Given the description of an element on the screen output the (x, y) to click on. 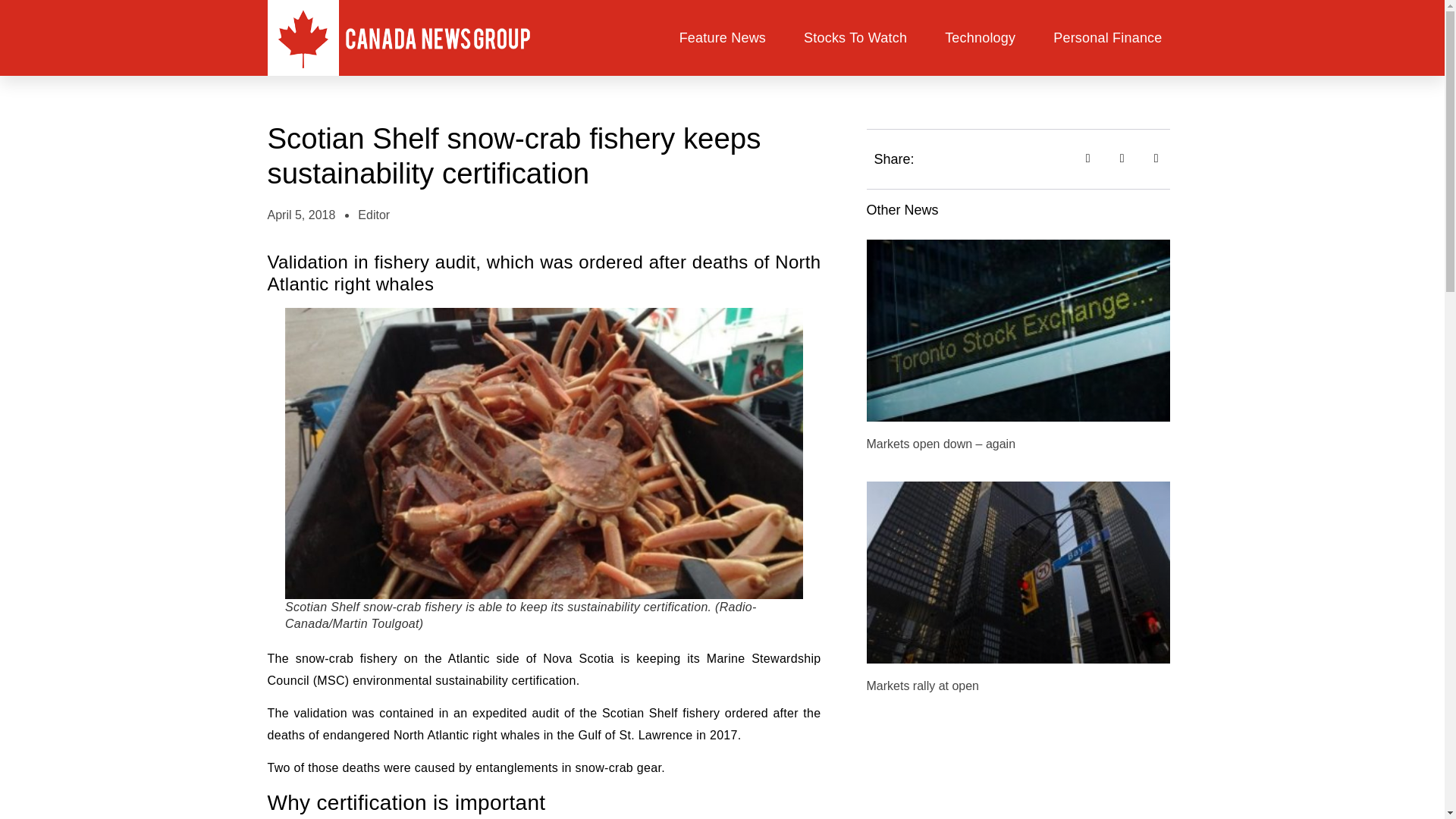
Editor (374, 215)
Stocks To Watch (855, 38)
Technology (979, 38)
Personal Finance (1106, 38)
Feature News (722, 38)
April 5, 2018 (300, 215)
Markets rally at open (922, 685)
